Given the description of an element on the screen output the (x, y) to click on. 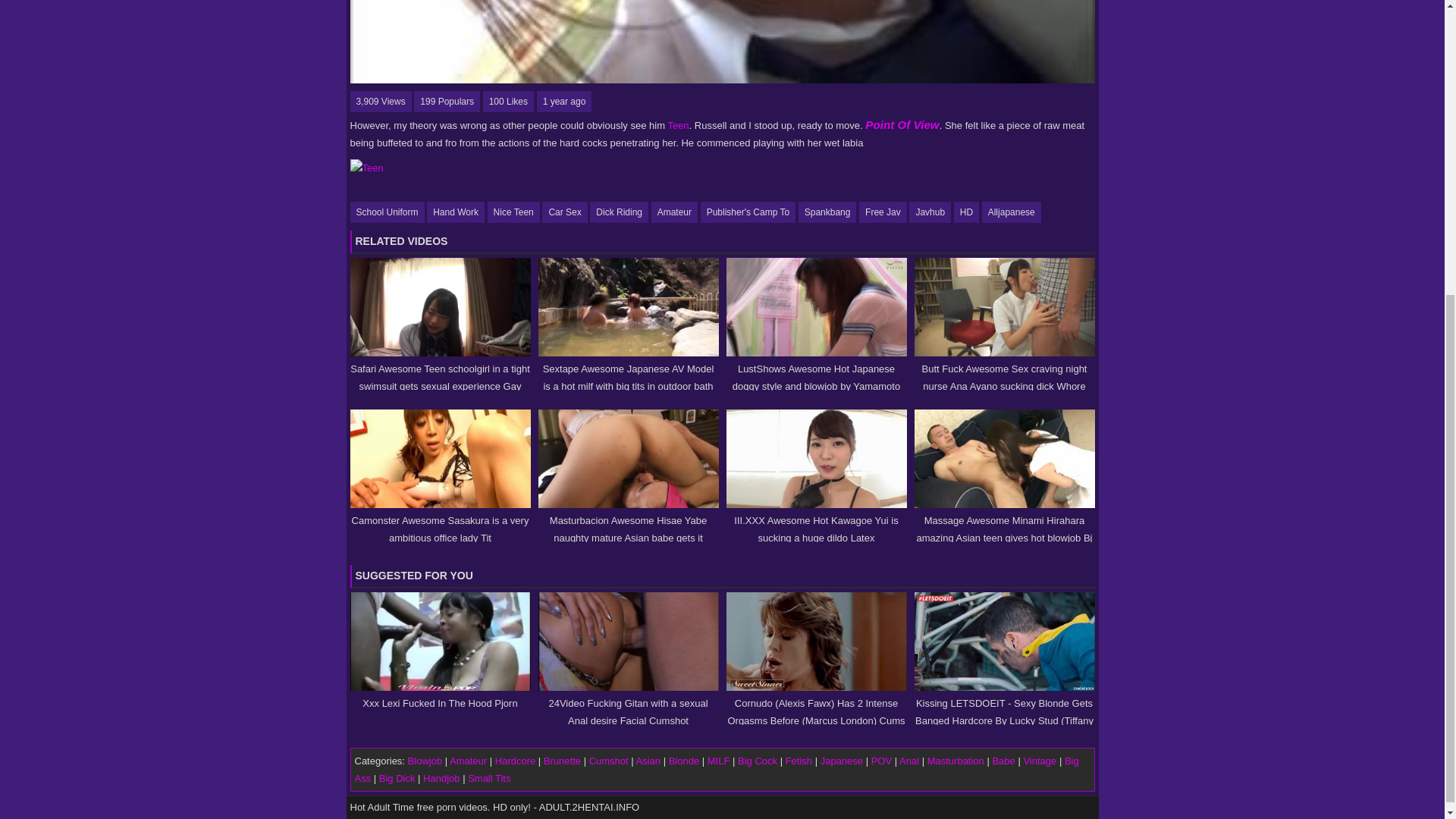
Teen (677, 125)
Amateur (673, 211)
car sex (563, 211)
Javhub (929, 211)
Car Sex (563, 211)
Point Of View (901, 124)
School Uniform (387, 211)
school uniform (387, 211)
Hand Work (455, 211)
